Given the description of an element on the screen output the (x, y) to click on. 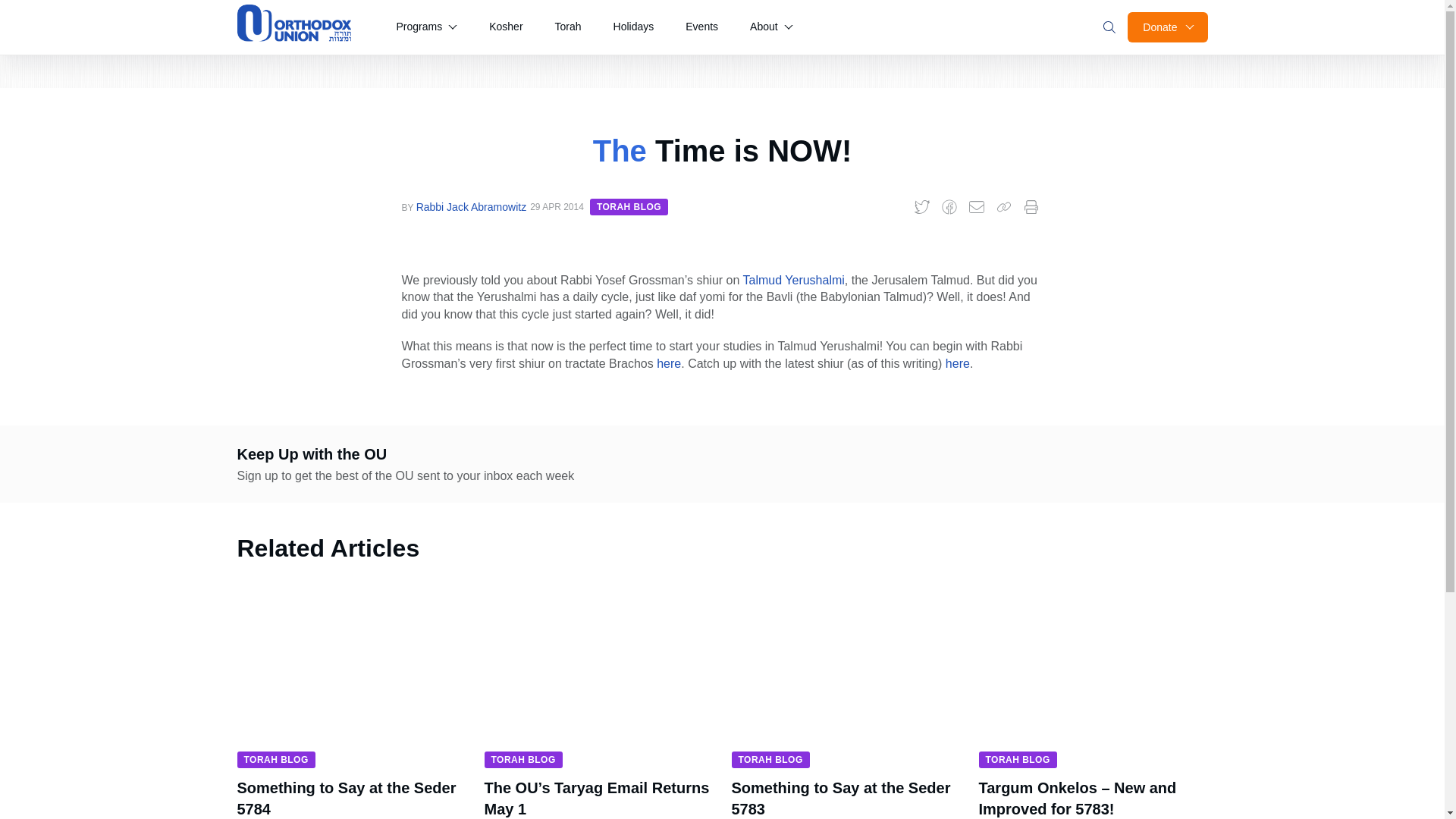
Holidays (633, 27)
About (771, 27)
Kosher (505, 27)
Programs (425, 27)
Torah (568, 27)
Donate (1166, 27)
Rabbi Jack Abramowitz (471, 206)
Posts by Rabbi Jack Abramowitz (471, 206)
Events (701, 27)
